Given the description of an element on the screen output the (x, y) to click on. 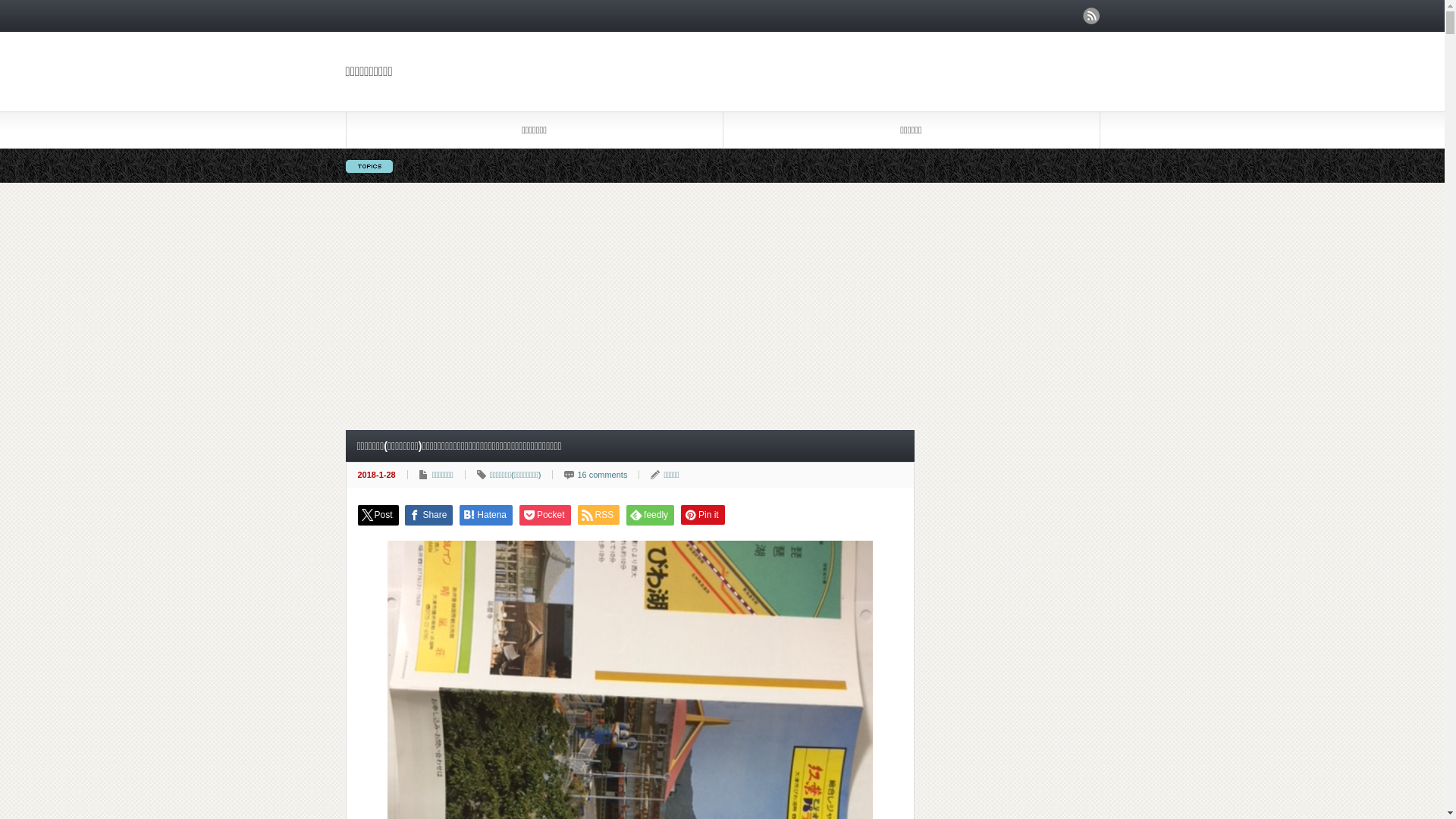
rss Element type: text (1090, 15)
Advertisement Element type: hover (721, 306)
feedly Element type: text (650, 515)
Share Element type: text (428, 515)
Hatena Element type: text (485, 515)
Post Element type: text (377, 515)
Pin it Element type: text (702, 514)
Pocket Element type: text (545, 515)
RSS Element type: text (598, 514)
16 comments Element type: text (602, 474)
